Given the description of an element on the screen output the (x, y) to click on. 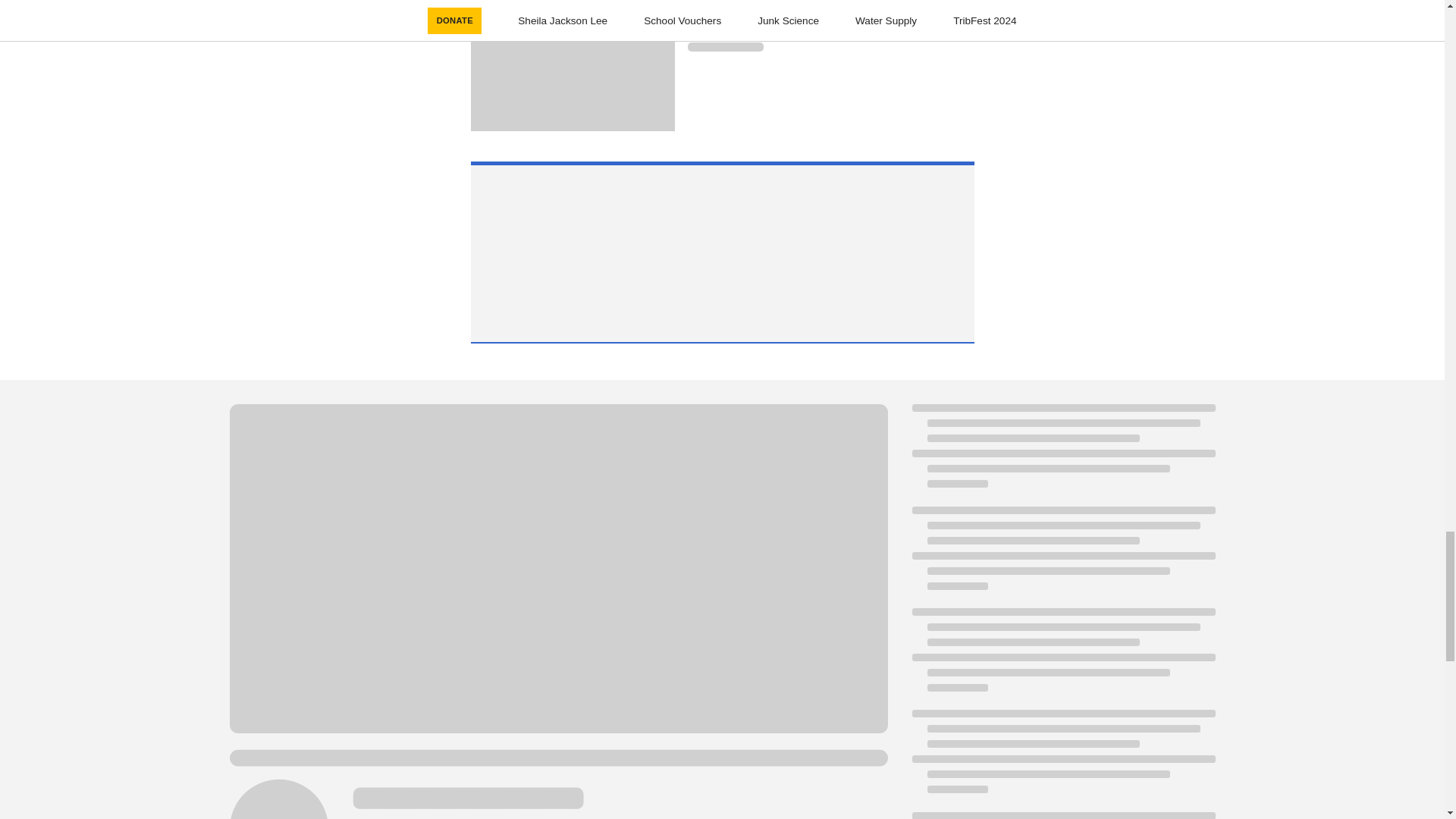
Loading indicator (724, 46)
Loading indicator (830, 22)
Loading indicator (830, 3)
